Given the description of an element on the screen output the (x, y) to click on. 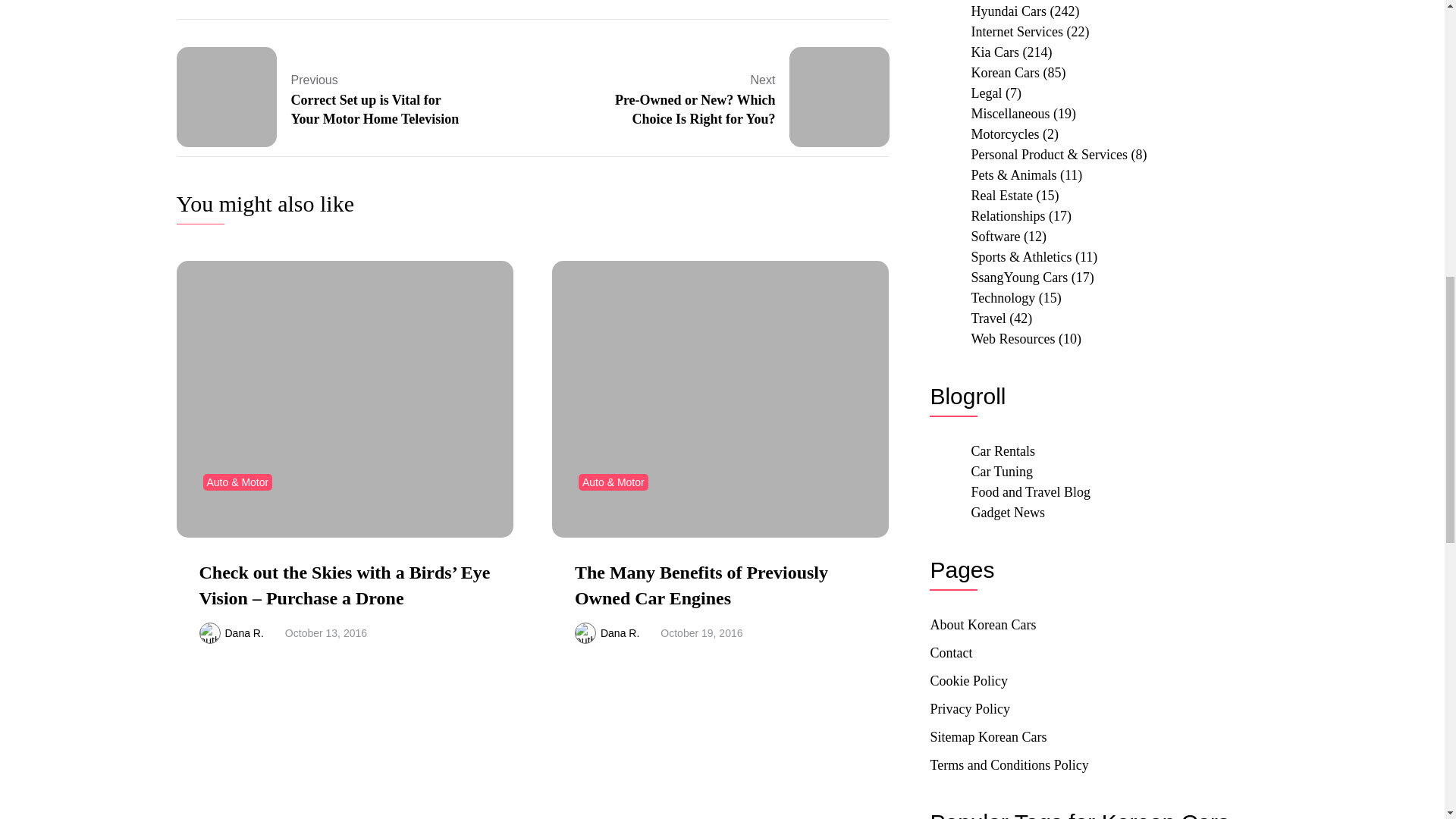
Food and Travel Blog (1030, 491)
Dana R. (243, 633)
October 19, 2016 (701, 633)
Car Tuning and Modified Car News (1001, 471)
October 13, 2016 (325, 633)
Dana R. (619, 633)
The Many Benefits of Previously Owned Car Engines (701, 585)
Gadget News (1007, 512)
